Given the description of an element on the screen output the (x, y) to click on. 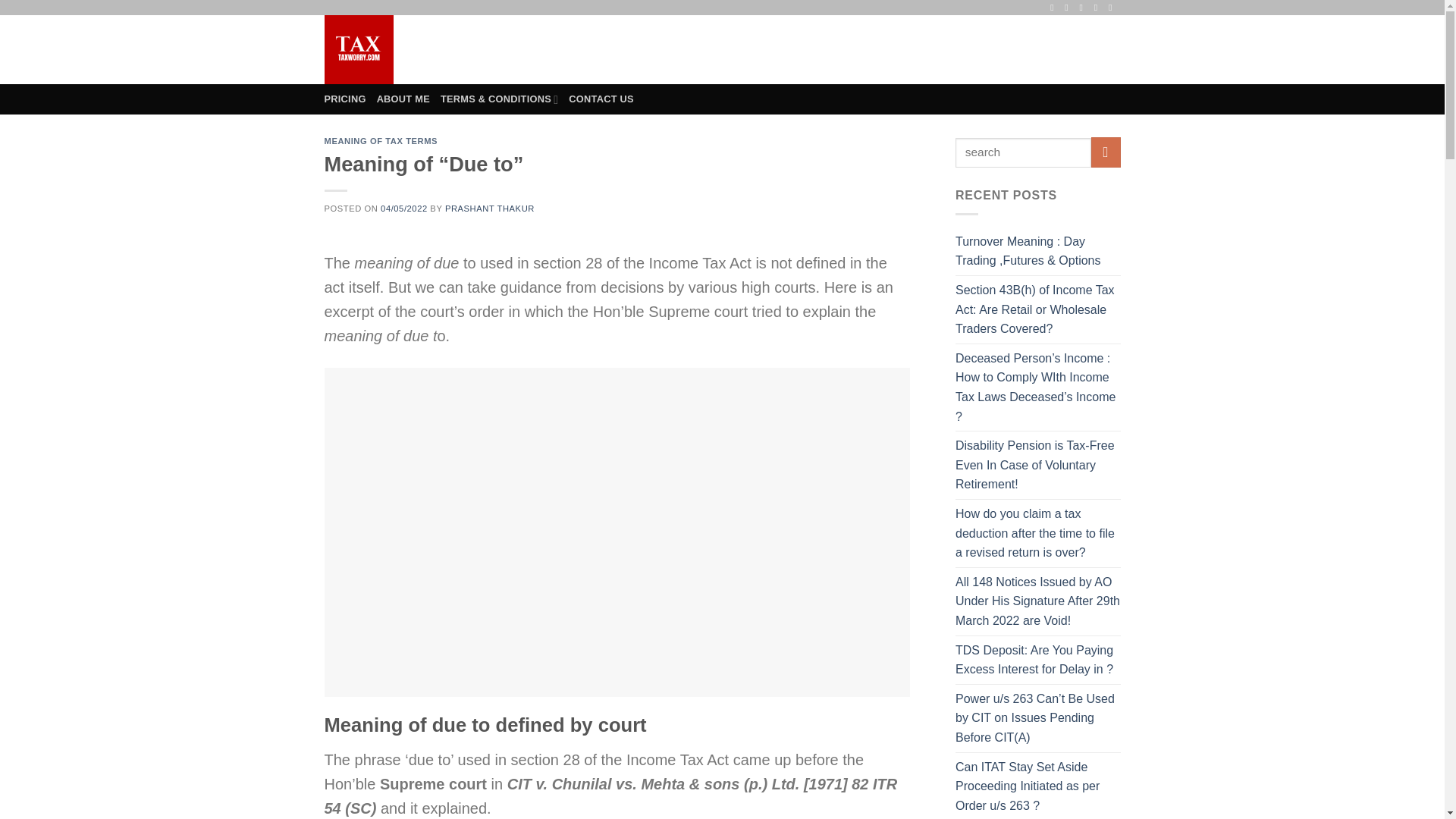
Search (872, 49)
taxworry.com - Every Article is A Tax Solution ! (386, 49)
CONTACT US (601, 99)
Cart (1074, 49)
ABOUT ME (403, 99)
TDS Deposit: Are You Paying Excess Interest for Delay in ? (1038, 659)
MEANING OF TAX TERMS (381, 140)
PRICING (345, 99)
PRASHANT THAKUR (489, 207)
